Given the description of an element on the screen output the (x, y) to click on. 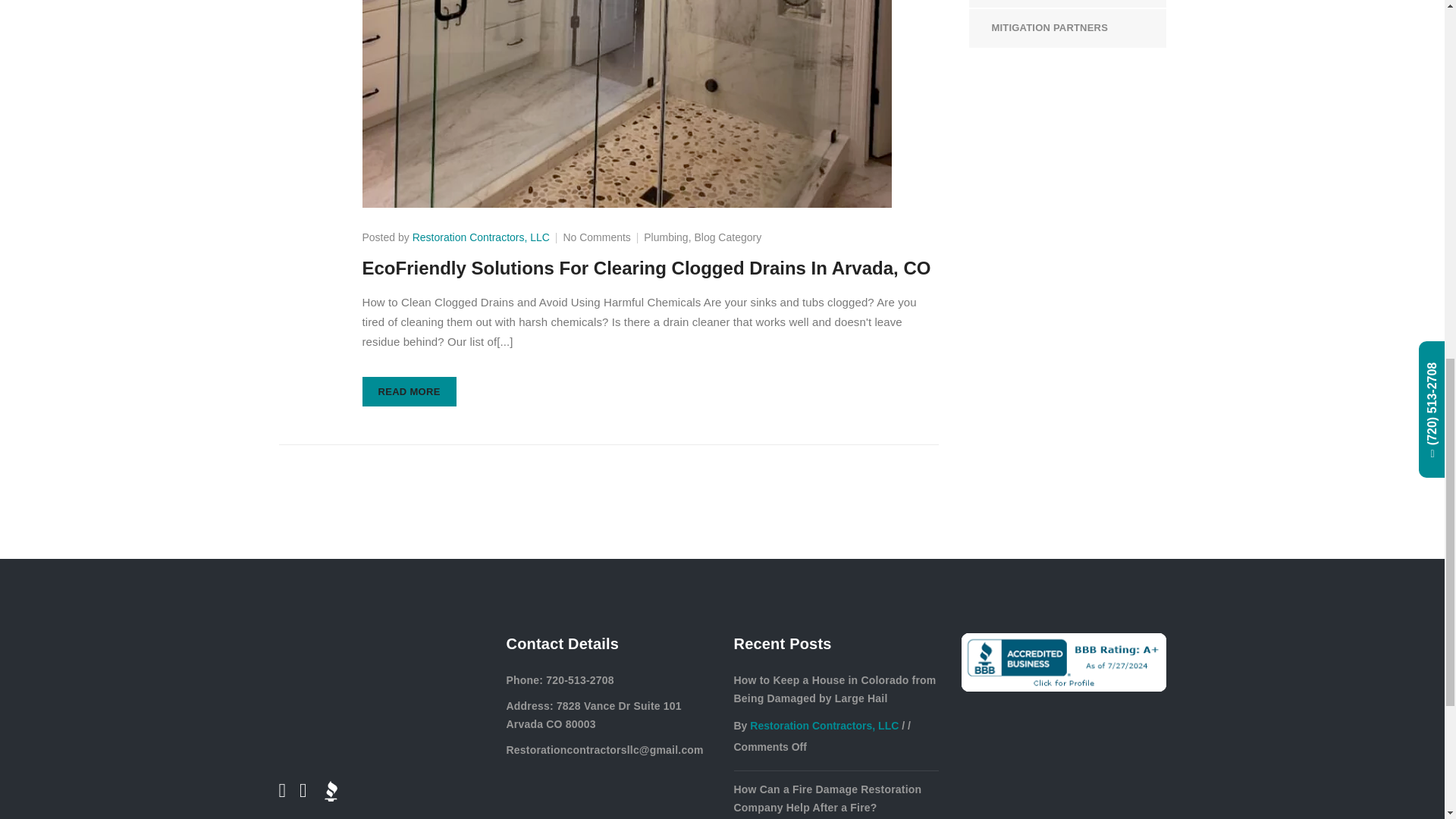
Plumbing (665, 236)
Blog Category (727, 236)
READ MORE (409, 391)
Restoration Contractors, LLC (481, 236)
